Given the description of an element on the screen output the (x, y) to click on. 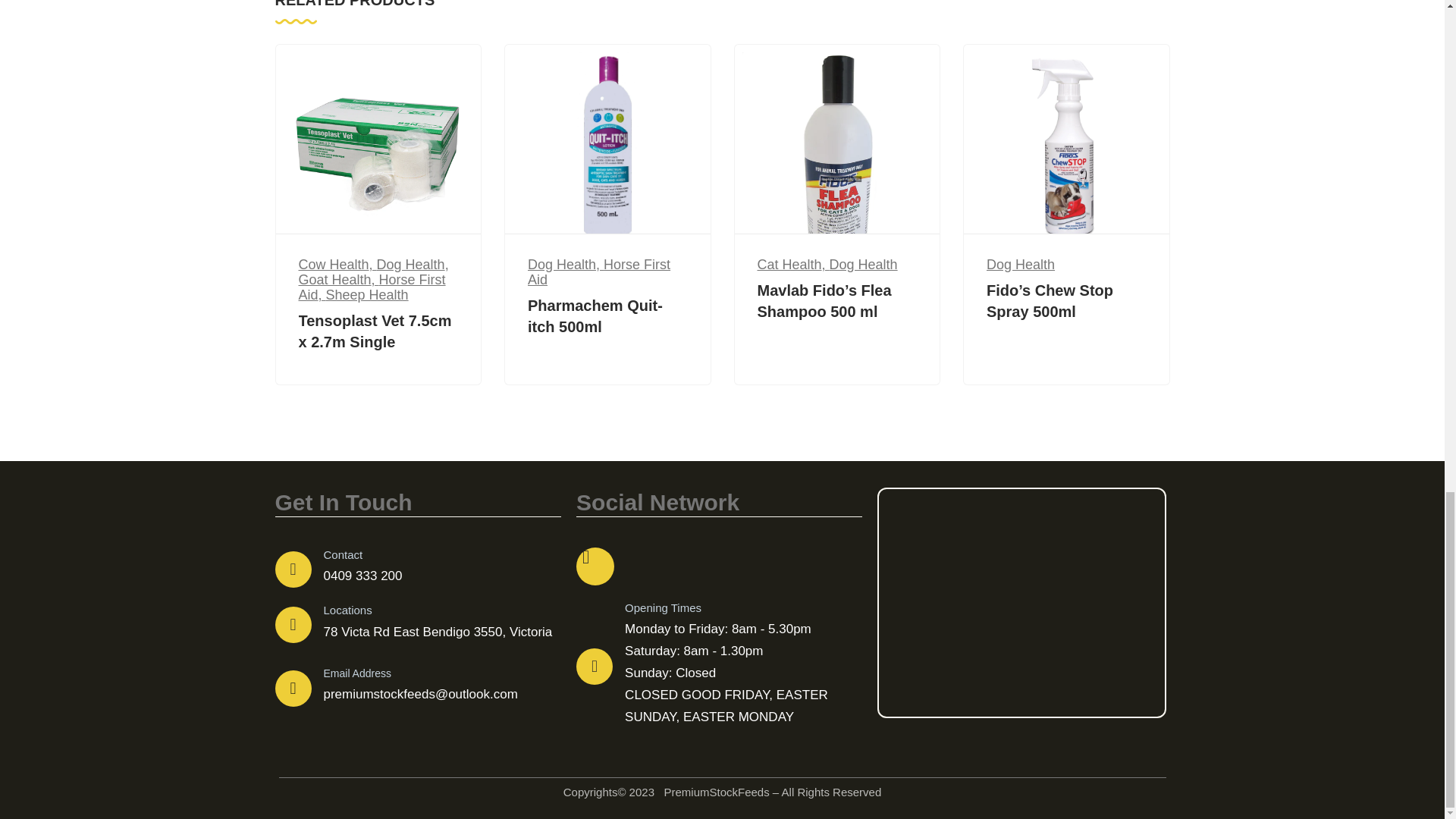
78 Victa Rd East Bendigo 3550, Victoria (1020, 602)
